Given the description of an element on the screen output the (x, y) to click on. 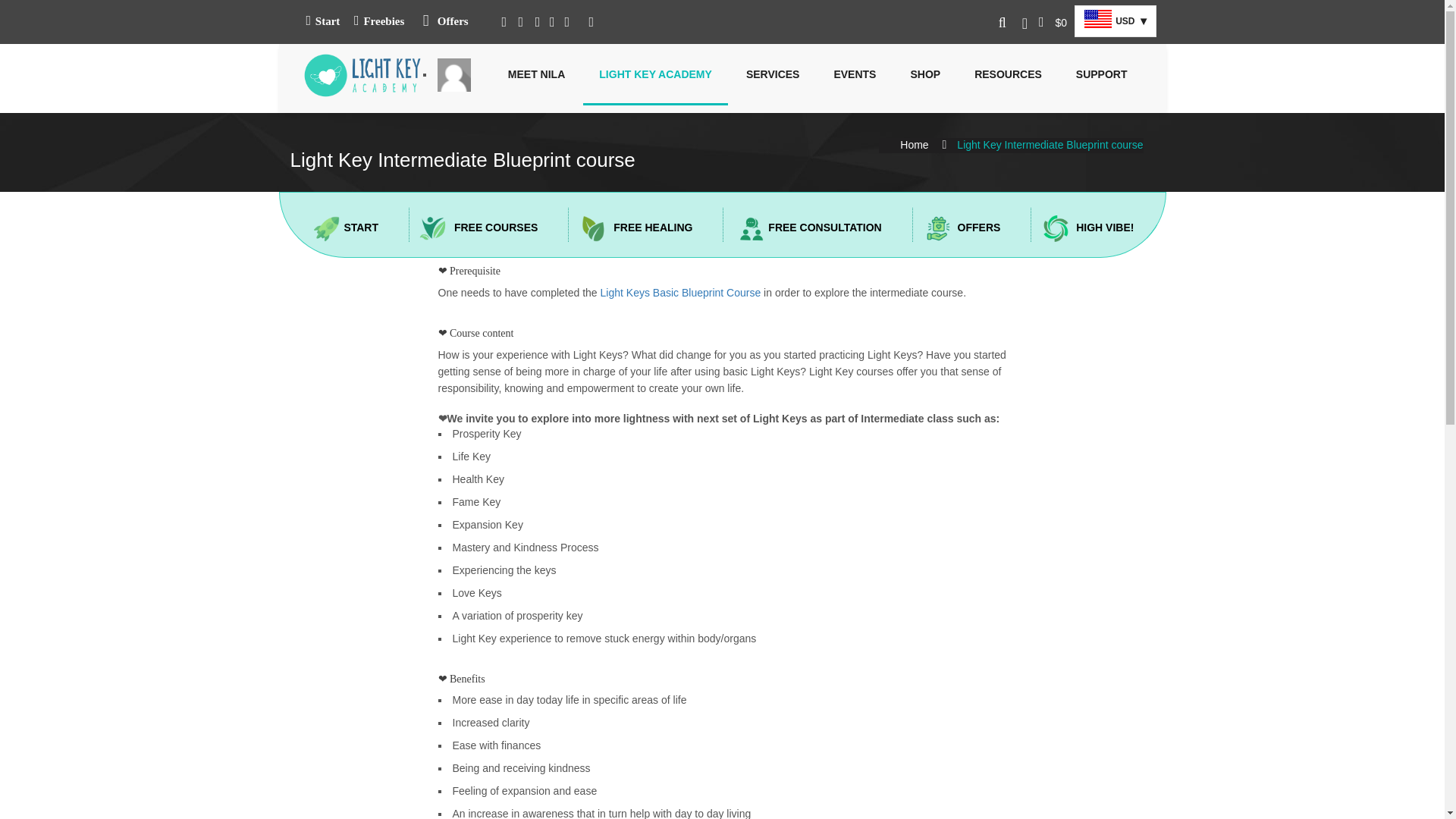
Offers (442, 22)
Current wallet balance (1053, 21)
LIGHT KEY ACADEMY (655, 74)
MEET NILA (536, 74)
Infinite Healing (362, 71)
Infinite Healing (362, 75)
Start (322, 20)
